Given the description of an element on the screen output the (x, y) to click on. 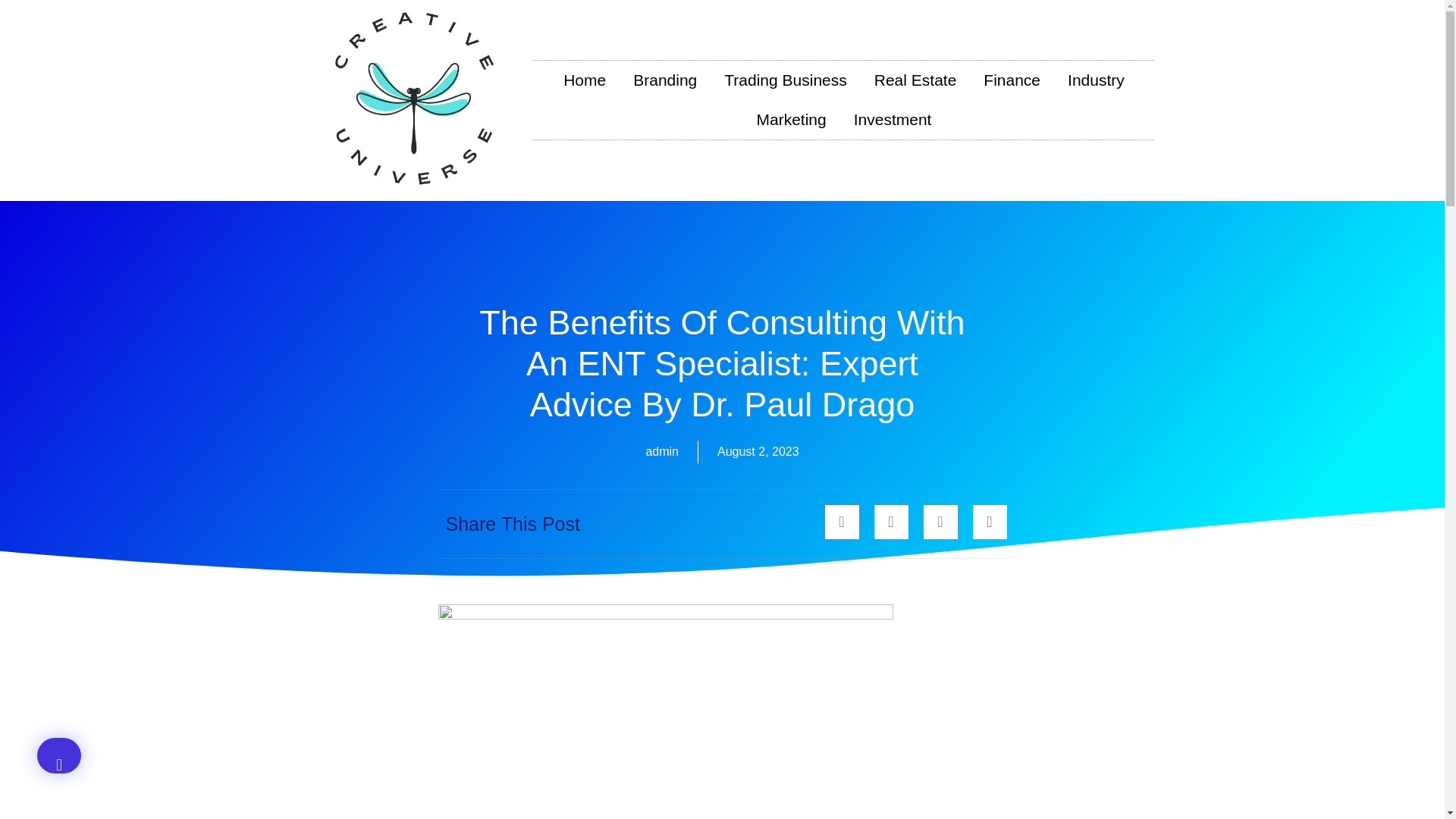
Branding (665, 79)
Finance (1011, 79)
admin (661, 451)
Investment (892, 119)
Industry (1096, 79)
Marketing (791, 119)
August 2, 2023 (758, 451)
Home (585, 79)
Real Estate (915, 79)
Trading Business (785, 79)
